Given the description of an element on the screen output the (x, y) to click on. 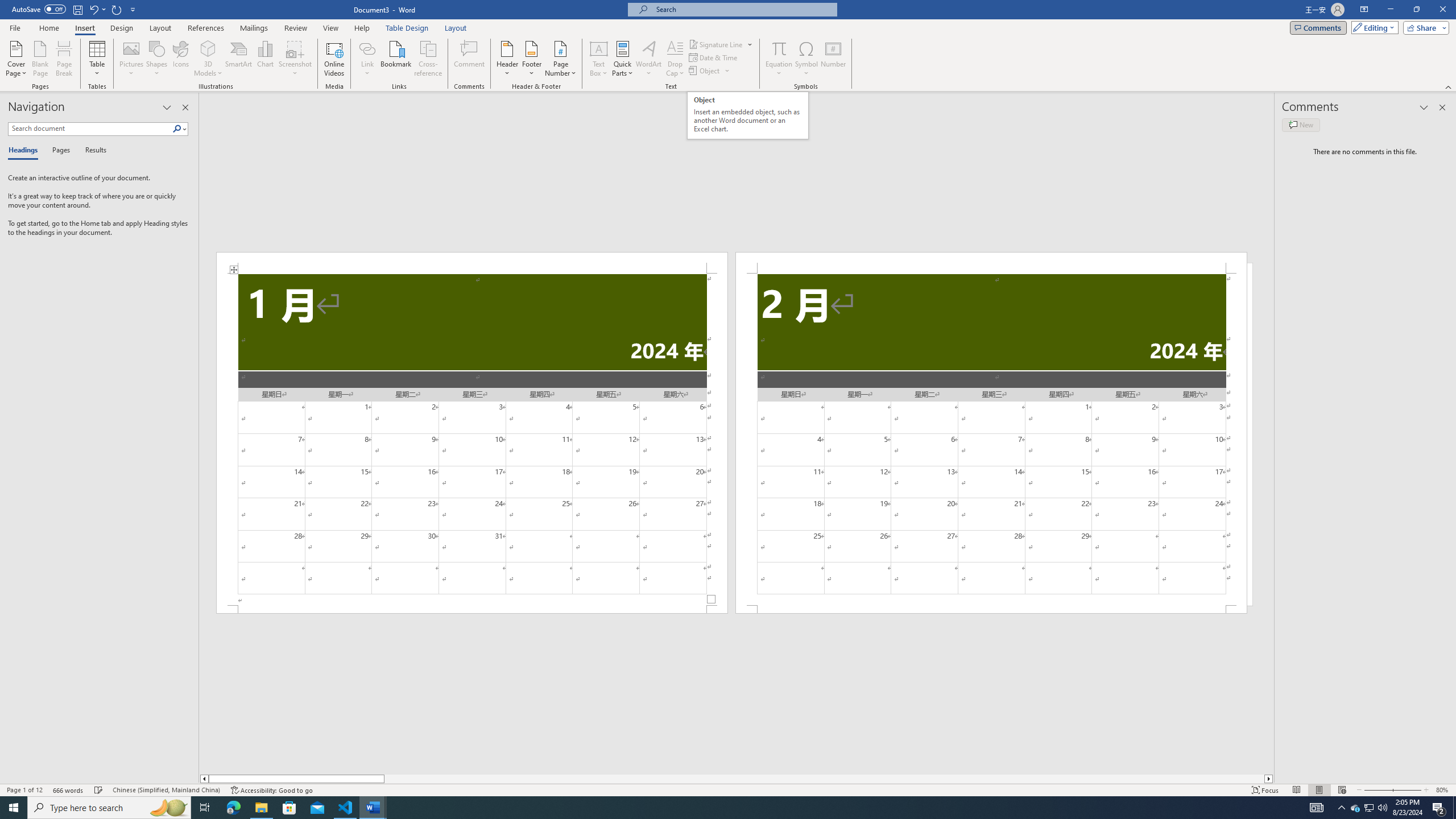
Link (367, 48)
Column right (1268, 778)
Footer (531, 58)
Pages (59, 150)
Repeat Doc Close (117, 9)
Cross-reference... (428, 58)
Page right (823, 778)
Drop Cap (674, 58)
Results (91, 150)
